Given the description of an element on the screen output the (x, y) to click on. 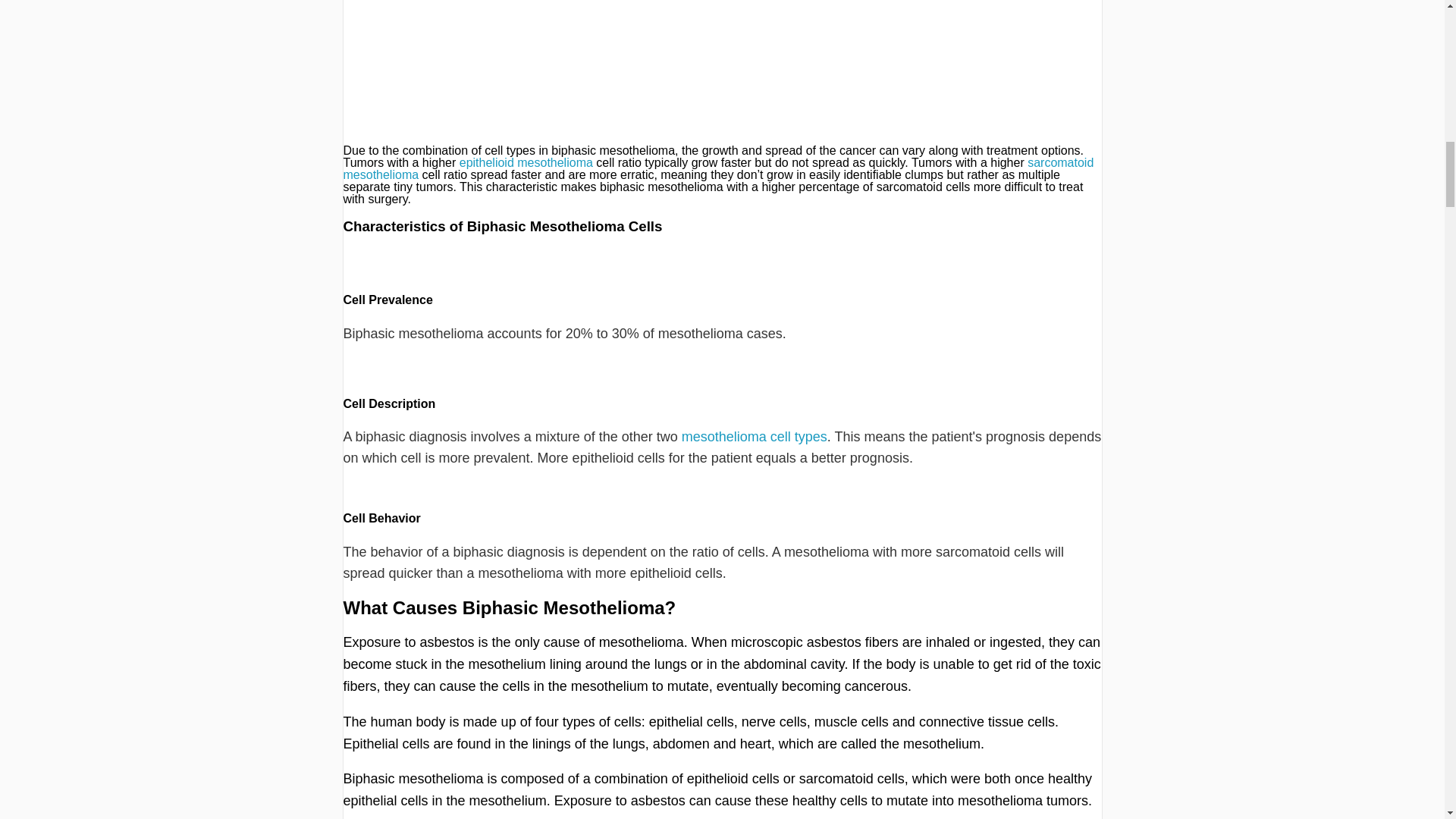
mesothelioma types (754, 436)
